Given the description of an element on the screen output the (x, y) to click on. 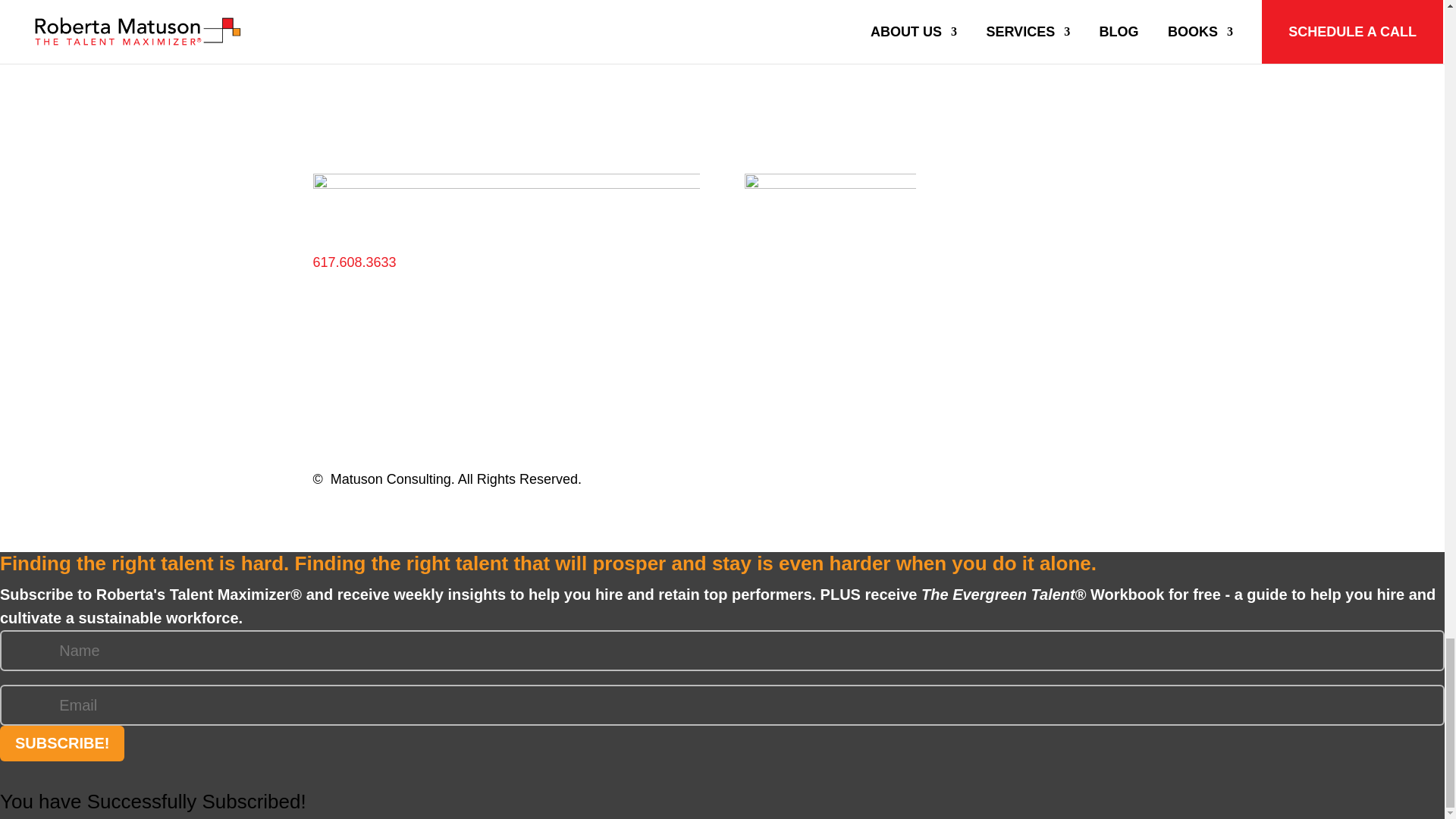
Follow on Facebook (1028, 185)
Follow on LinkedIn (1088, 185)
Follow on X (1058, 185)
Follow on Youtube (1118, 185)
Subscribe (981, 15)
617.608.3633 (354, 262)
